Given the description of an element on the screen output the (x, y) to click on. 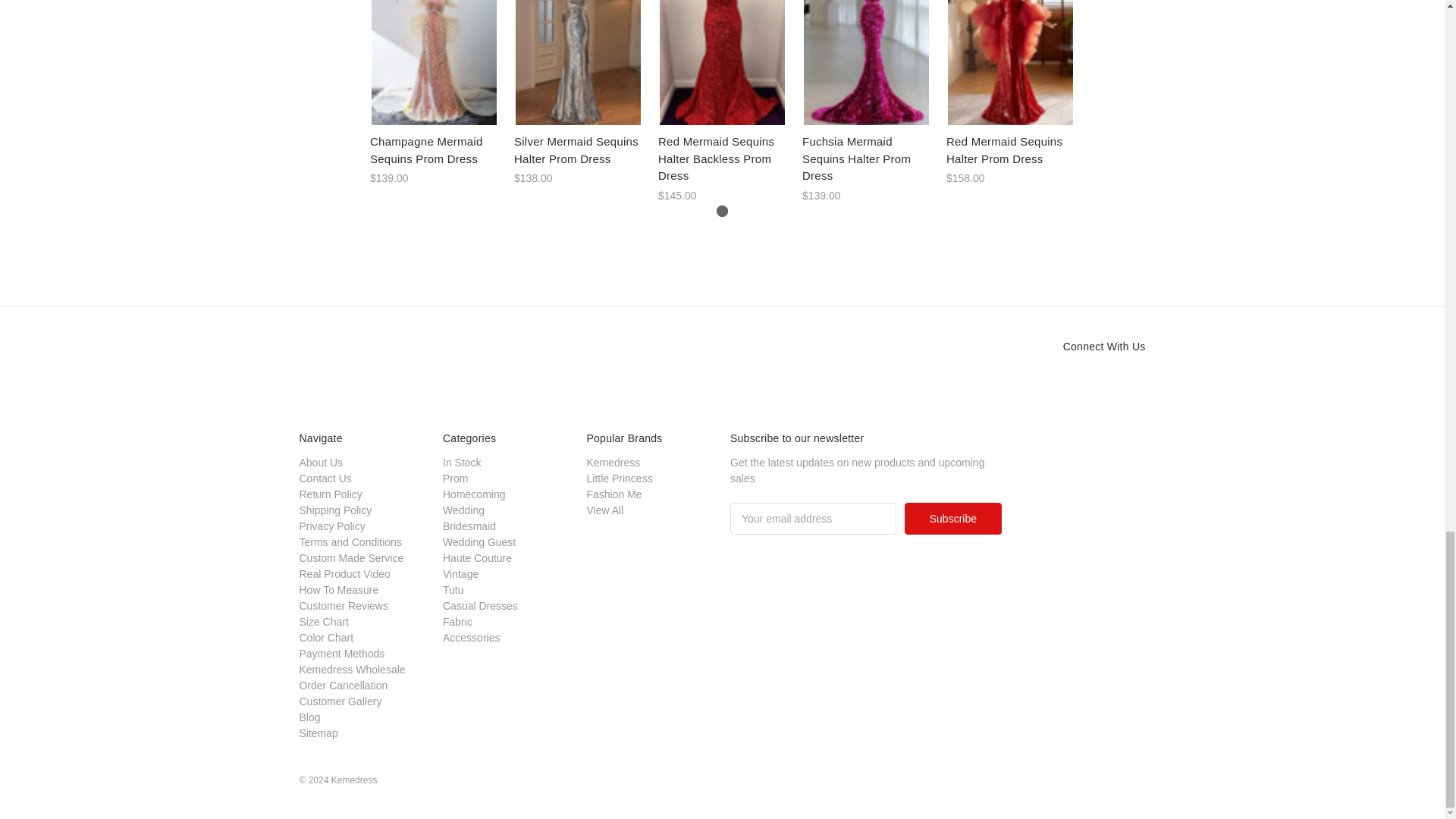
Subscribe (952, 518)
Champagne Mermaid Sequins Prom Dress (433, 63)
Red Mermaid Sequins Halter Prom Dress (1010, 63)
Red Mermaid Sequins Halter Backless Prom Dress (722, 63)
Fuchsia Mermaid Sequins Halter Prom Dress (866, 63)
Silver Mermaid Sequins Halter Prom Dress (577, 63)
